Given the description of an element on the screen output the (x, y) to click on. 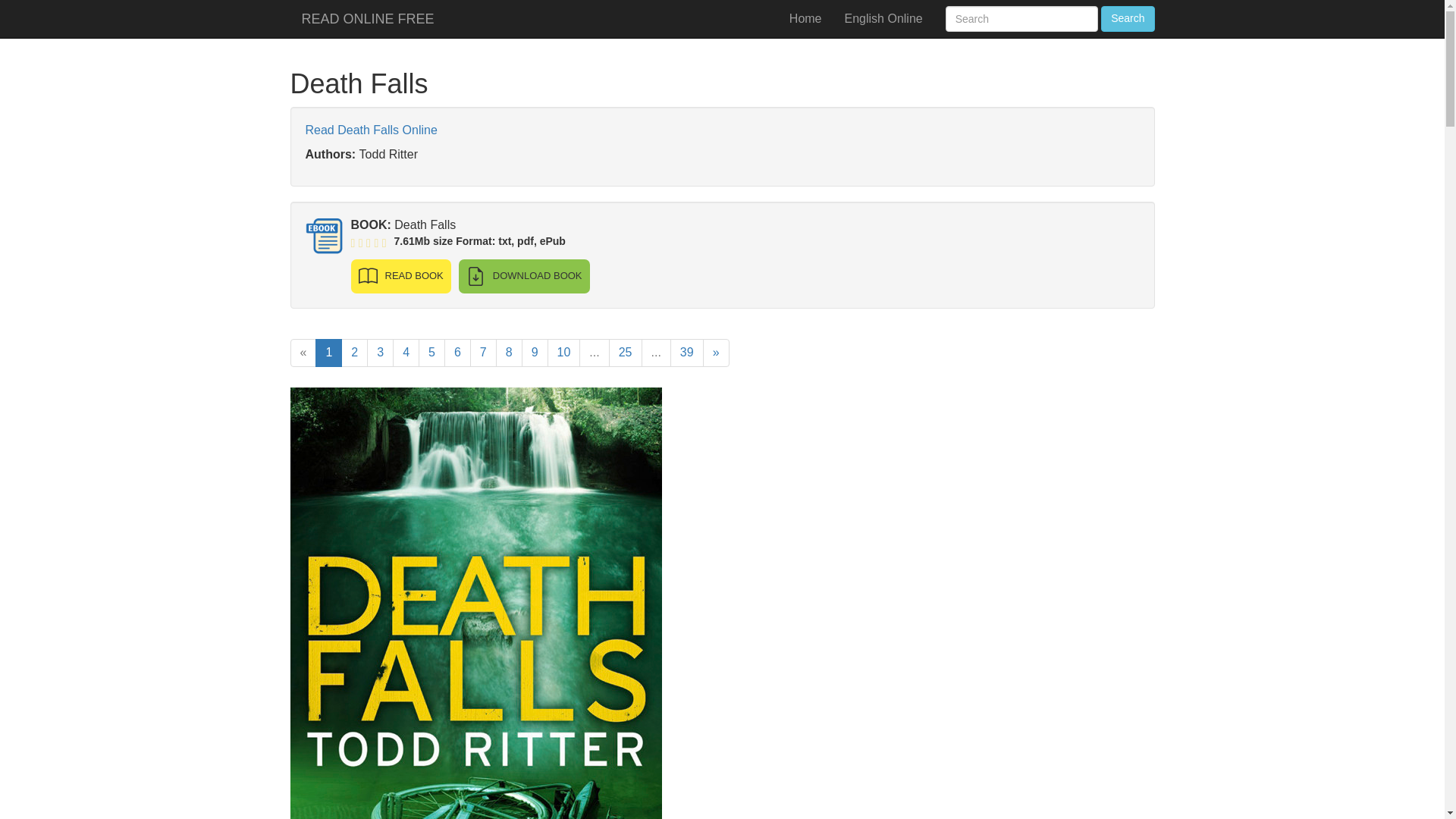
5 (432, 352)
6 (457, 352)
9 (534, 352)
2 (354, 352)
Search (1127, 18)
8 (509, 352)
10 (563, 352)
3 (379, 352)
READ ONLINE FREE (367, 18)
English Online (883, 18)
